Given the description of an element on the screen output the (x, y) to click on. 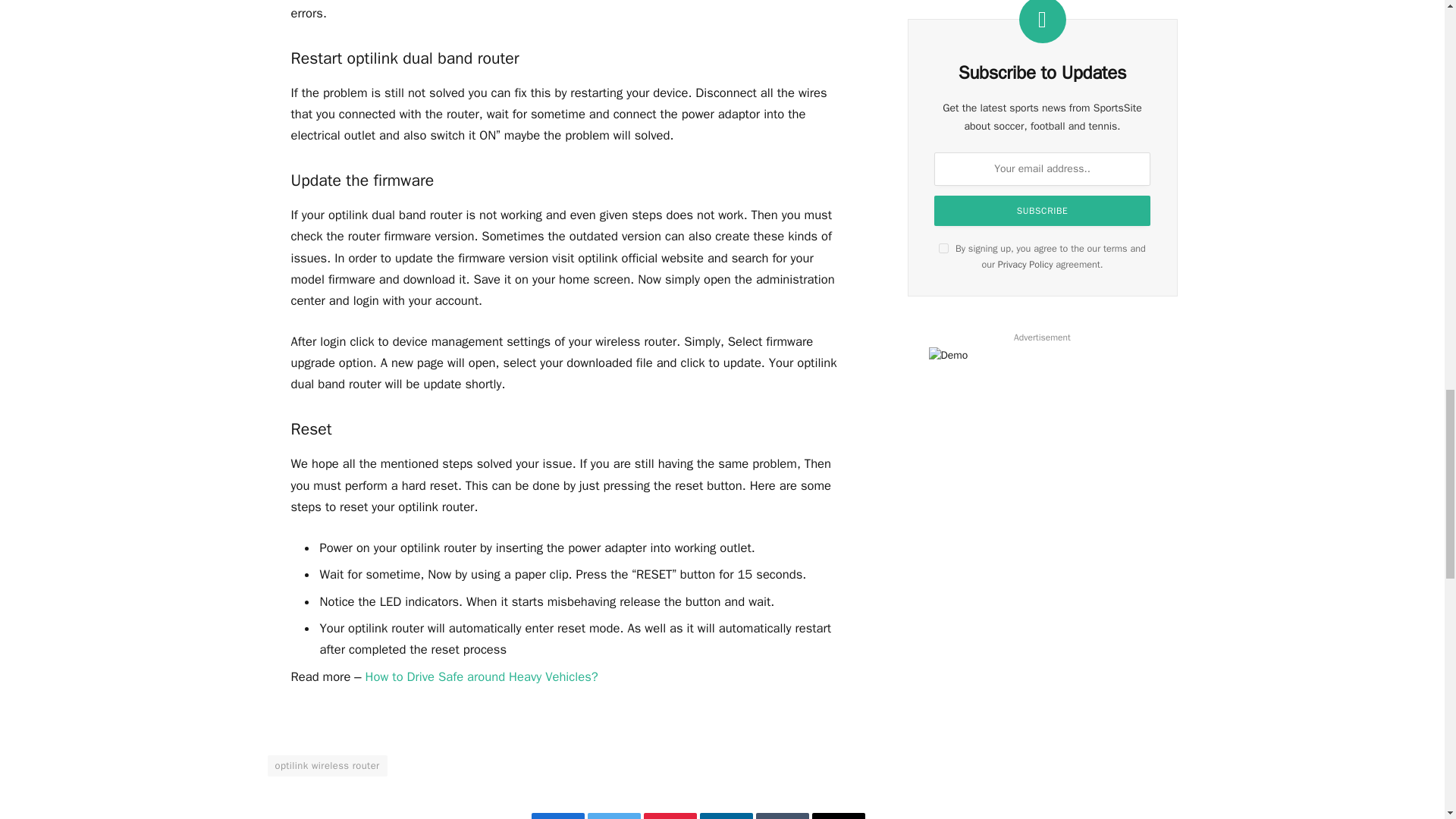
on (944, 248)
Subscribe (1042, 210)
